Given the description of an element on the screen output the (x, y) to click on. 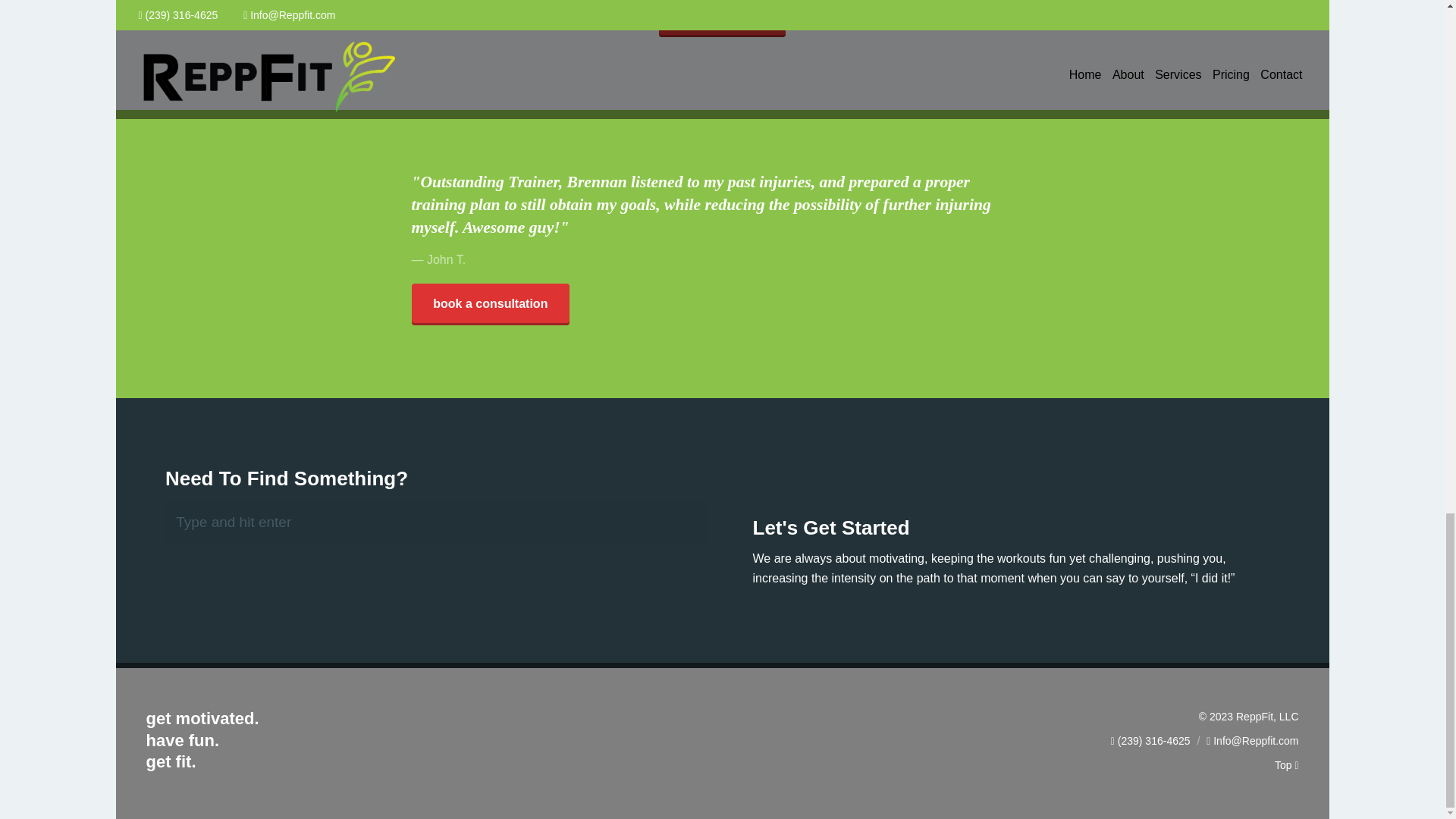
Top (1286, 761)
book a consultation (489, 304)
Meet the Team (722, 18)
